Given the description of an element on the screen output the (x, y) to click on. 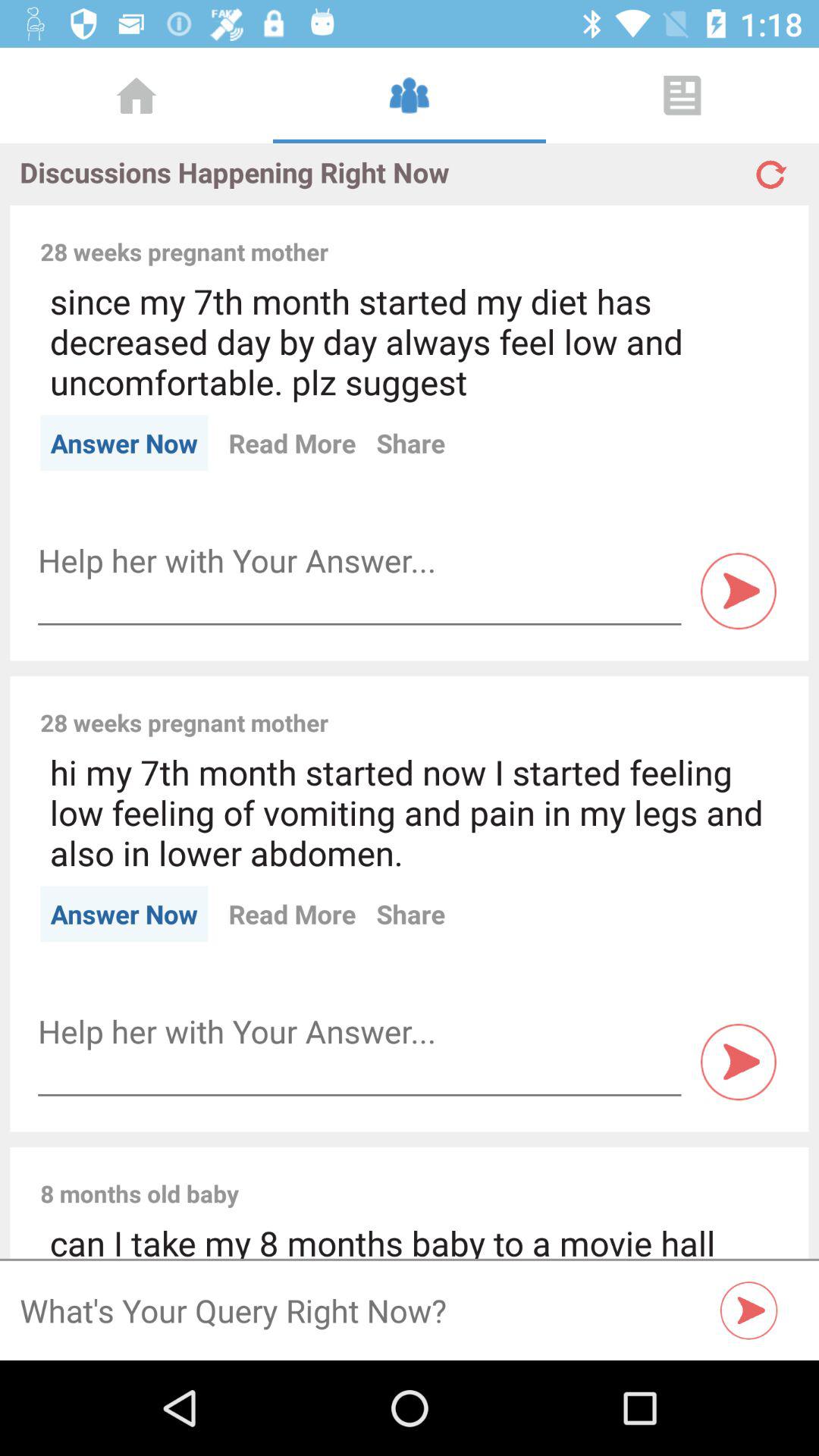
press icon next to 8 months old (518, 1176)
